Given the description of an element on the screen output the (x, y) to click on. 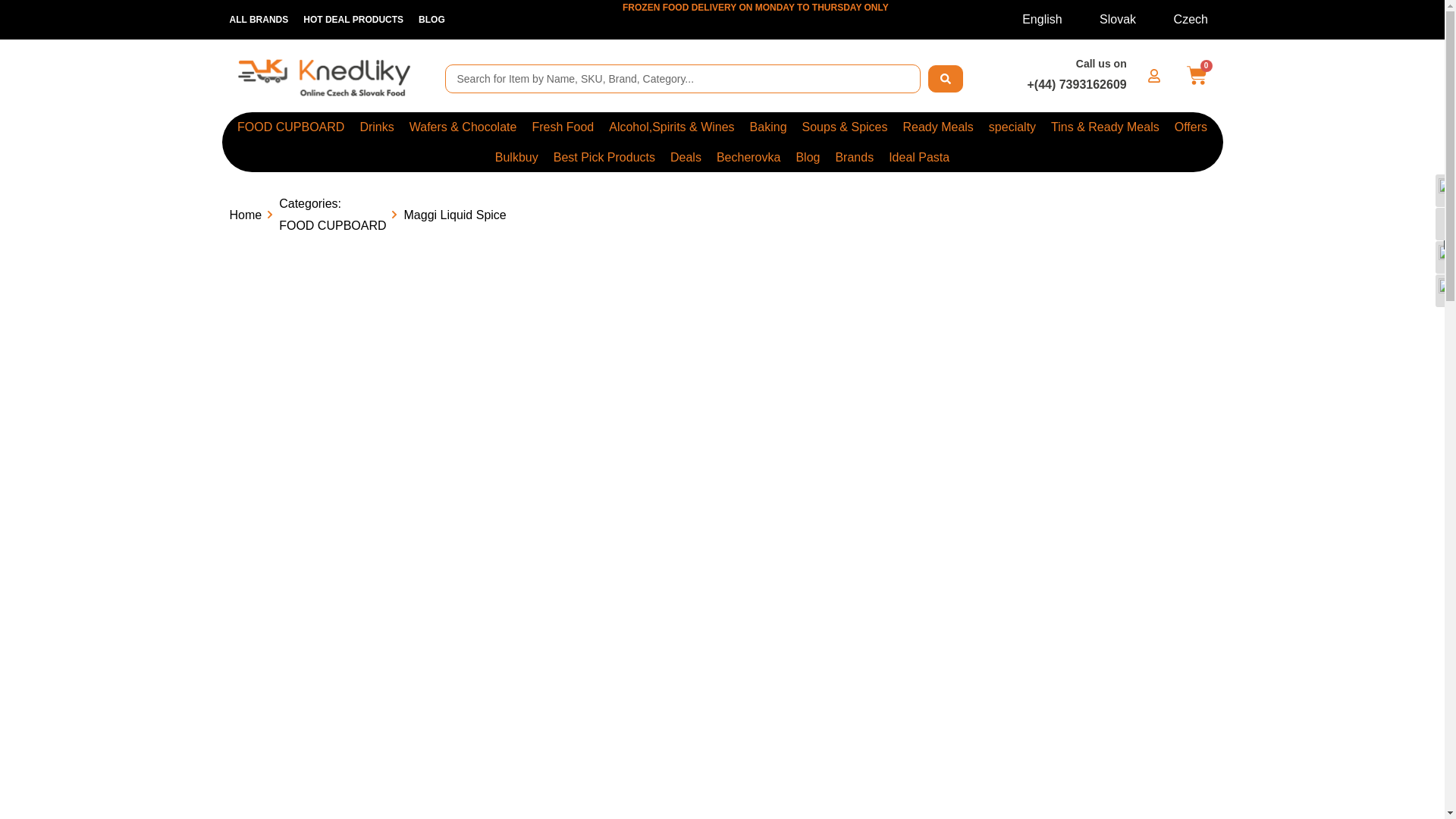
Brands (853, 156)
Czech (1181, 18)
Offers (1190, 126)
Best Pick Products (604, 156)
BLOG (431, 19)
Becherovka (749, 156)
Bulkbuy (516, 156)
Slovak (1107, 18)
English (1031, 18)
Blog (807, 156)
Drinks (376, 126)
Baking (768, 126)
HOT DEAL PRODUCTS (352, 19)
FOOD CUPBOARD (291, 126)
English (1031, 18)
